Given the description of an element on the screen output the (x, y) to click on. 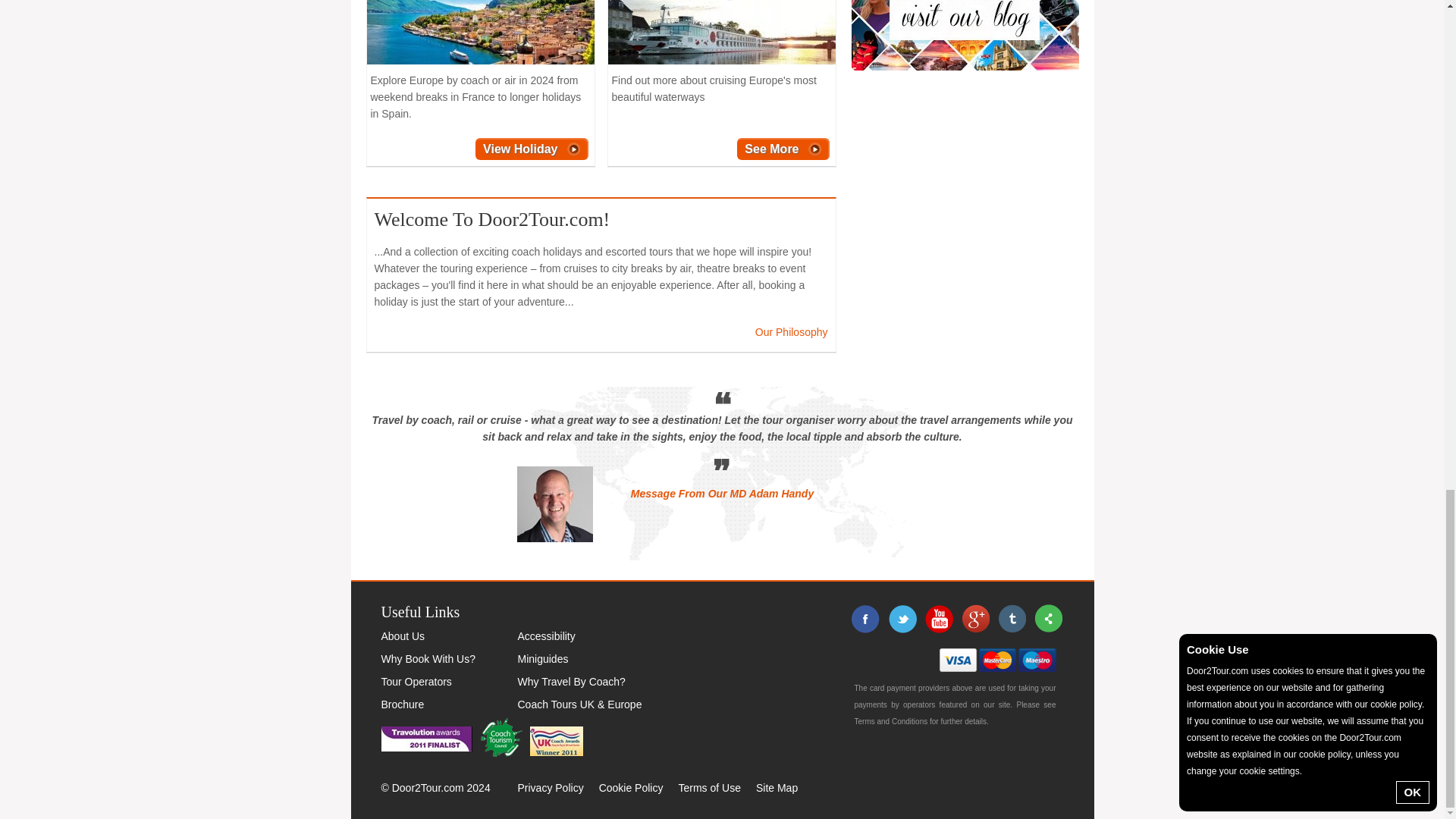
MD Photo (554, 504)
blog image (964, 35)
